Given the description of an element on the screen output the (x, y) to click on. 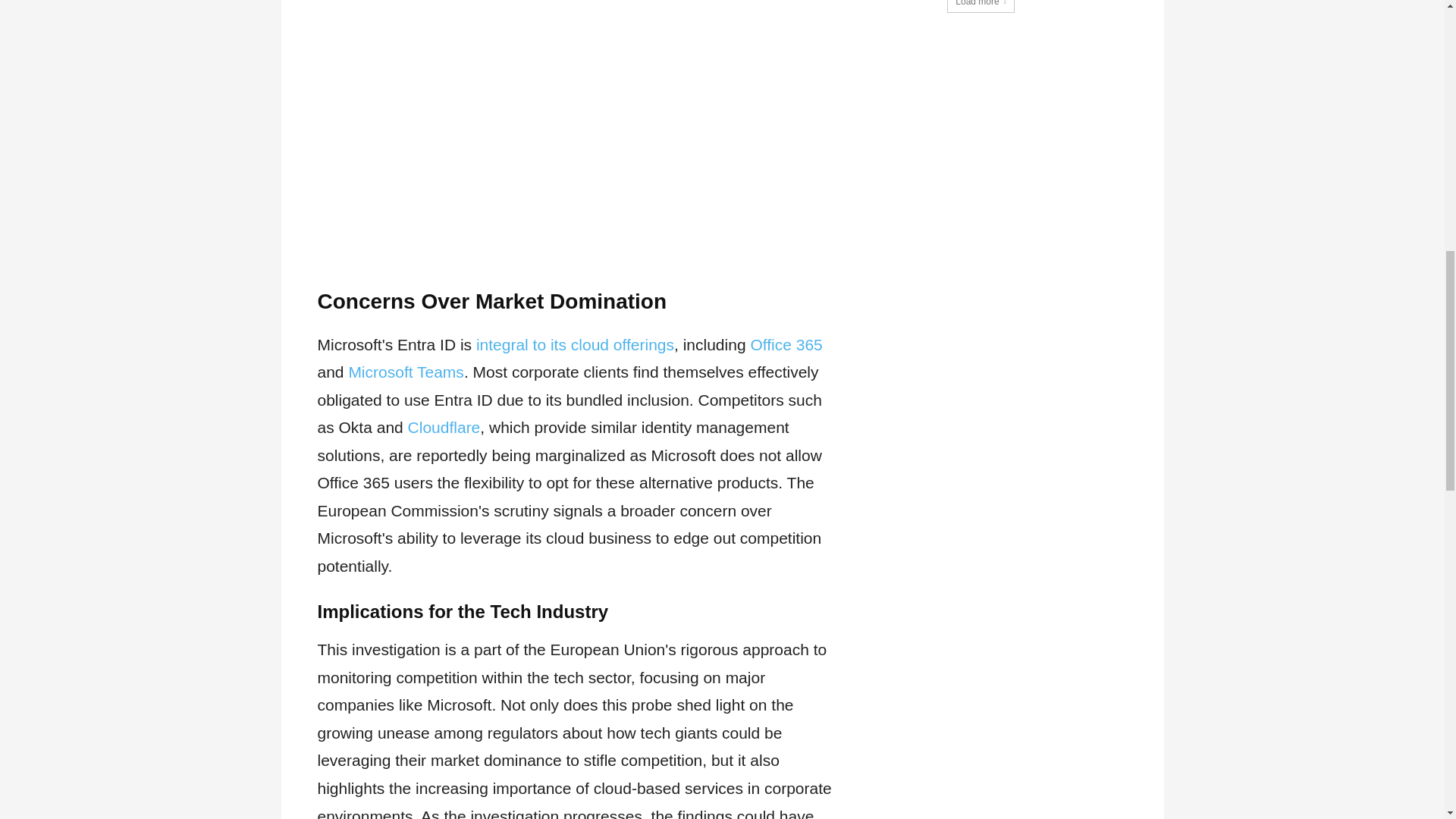
Posts tagged with Microsoft Teams (405, 371)
Posts tagged with Office 365 (785, 343)
Posts tagged with CloudFlare (443, 426)
